Given the description of an element on the screen output the (x, y) to click on. 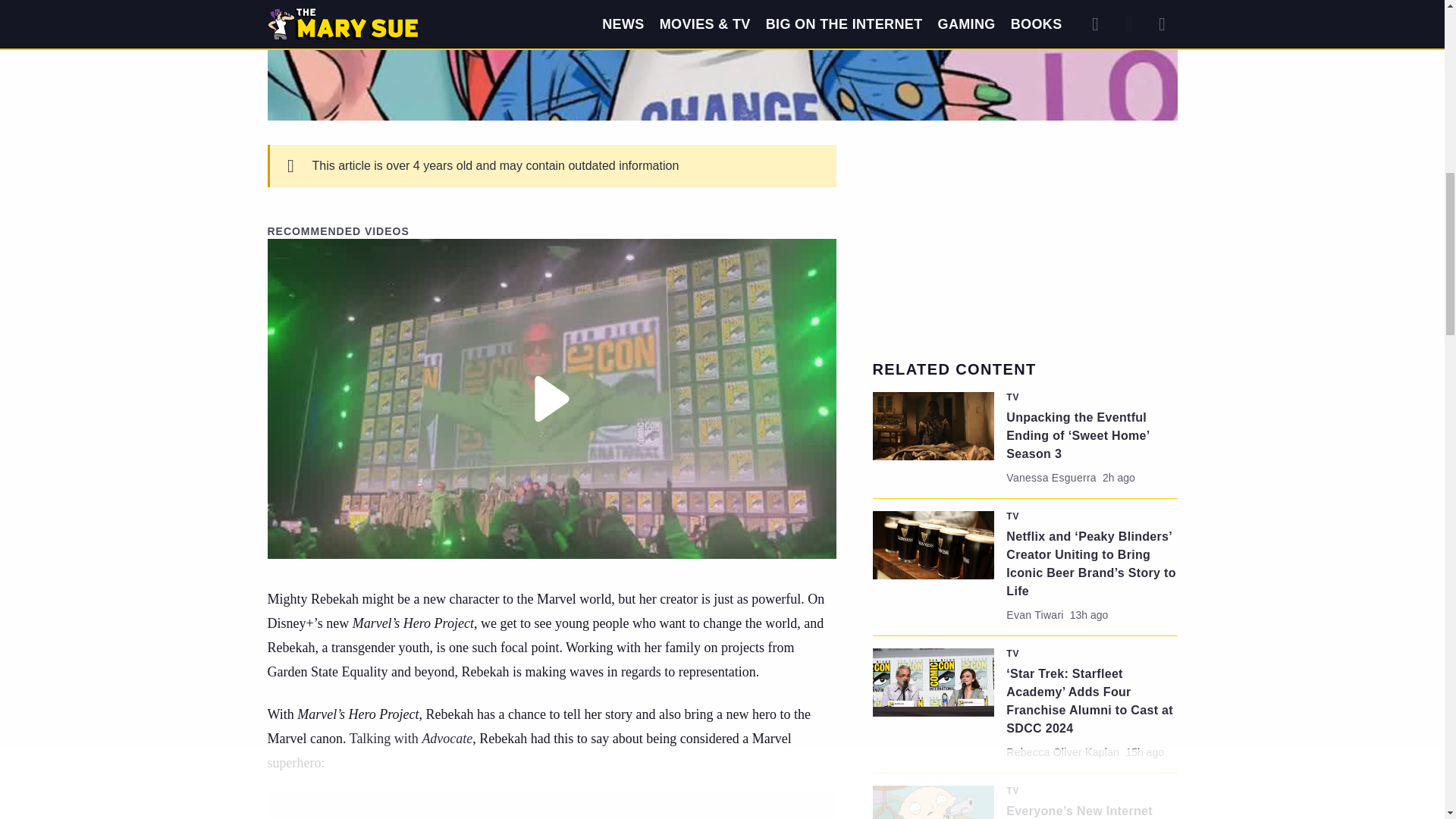
3rd party ad content (1024, 239)
